Given the description of an element on the screen output the (x, y) to click on. 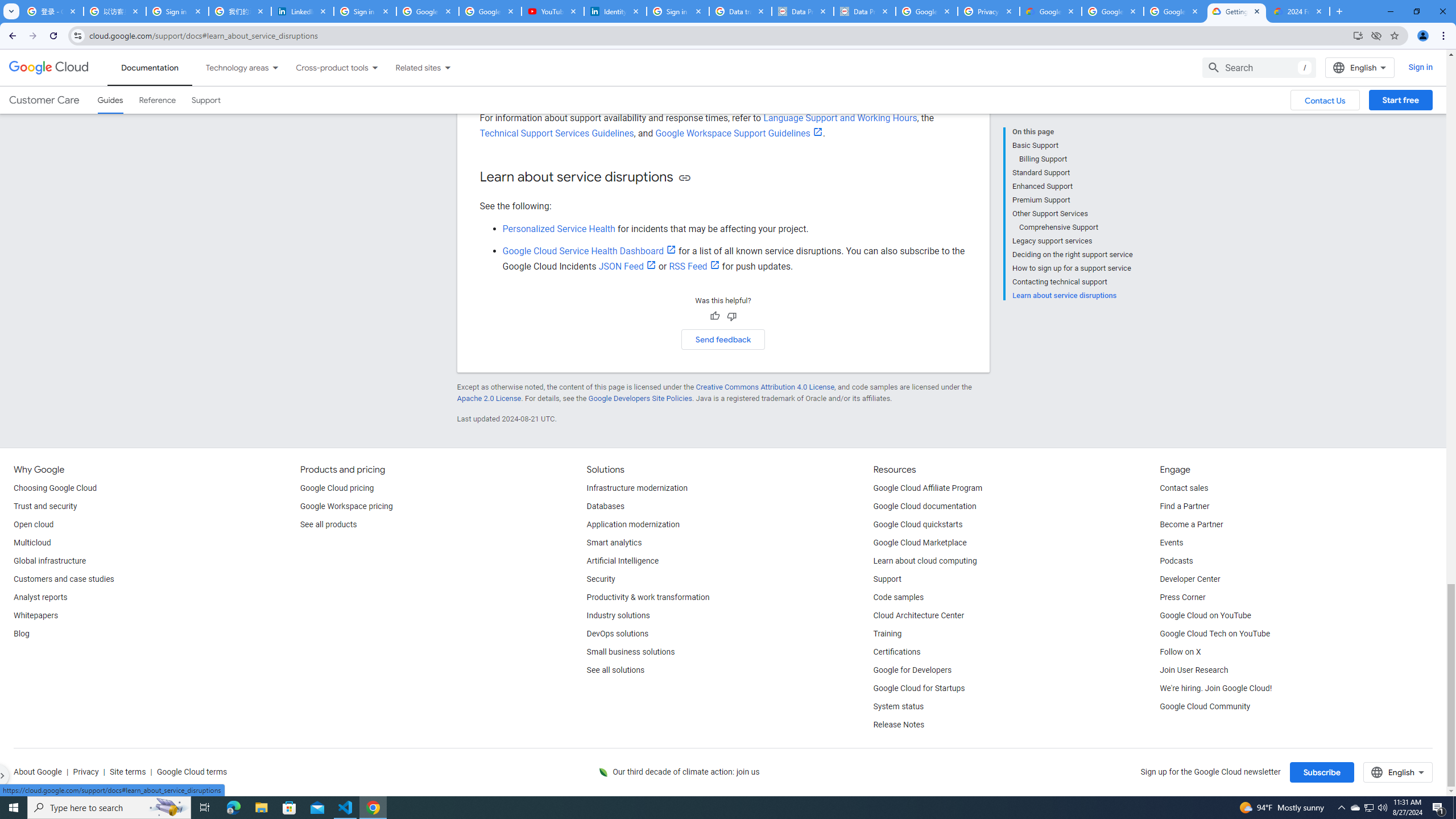
Google Cloud quickstarts (917, 524)
Google Cloud Tech on YouTube (1214, 633)
Premium Support (1071, 200)
Data Privacy Framework (802, 11)
Cross-product tools (325, 67)
Helpful (714, 316)
See all products (327, 524)
Dropdown menu for Cross-product tools (374, 67)
Sign in - Google Accounts (177, 11)
